Given the description of an element on the screen output the (x, y) to click on. 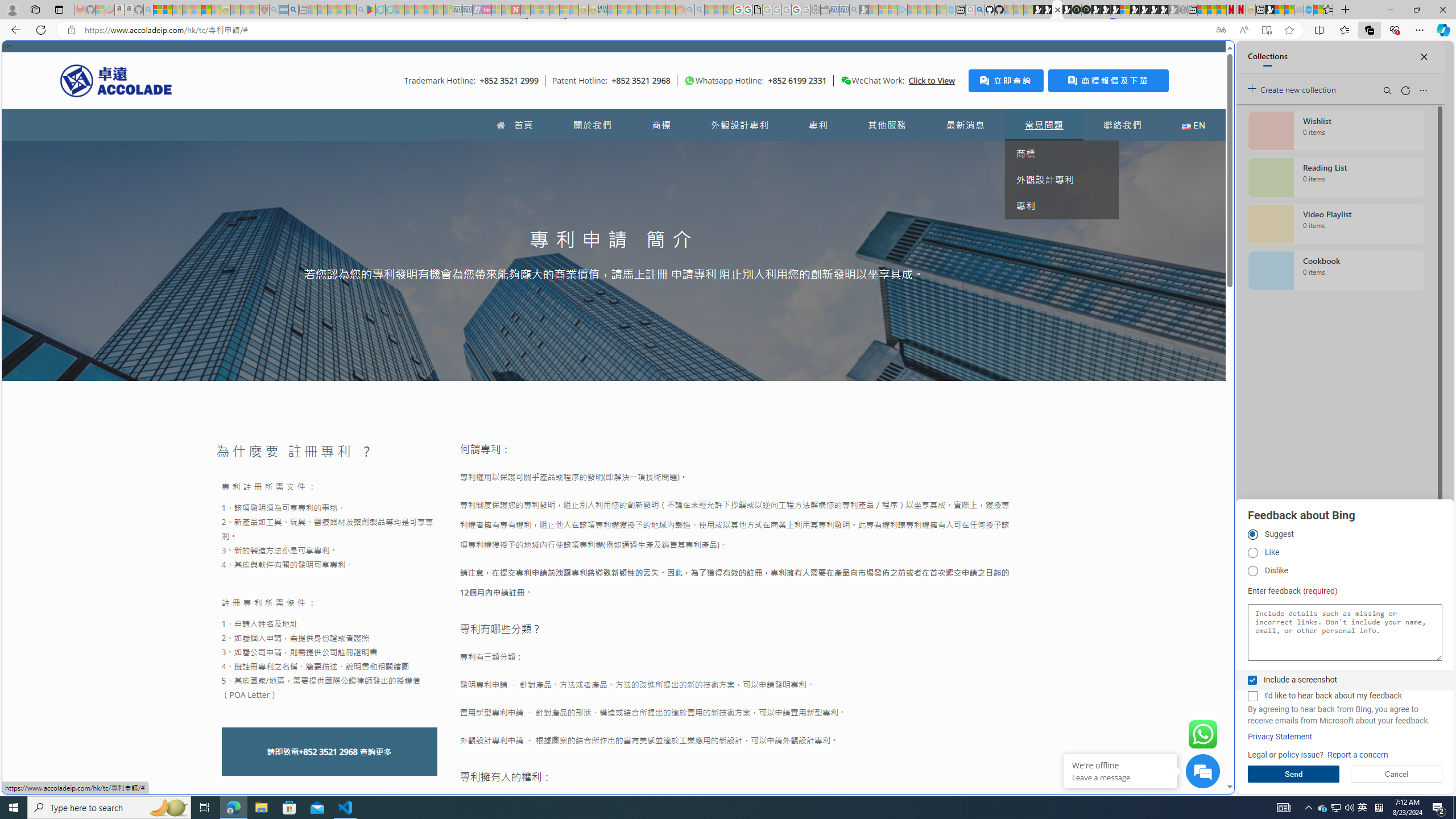
Expert Portfolios - Sleeping (640, 9)
Search or enter web address (922, 108)
Navy Quest (1299, 9)
Play Free Online Games | Games from Microsoft Start (1144, 9)
